Given the description of an element on the screen output the (x, y) to click on. 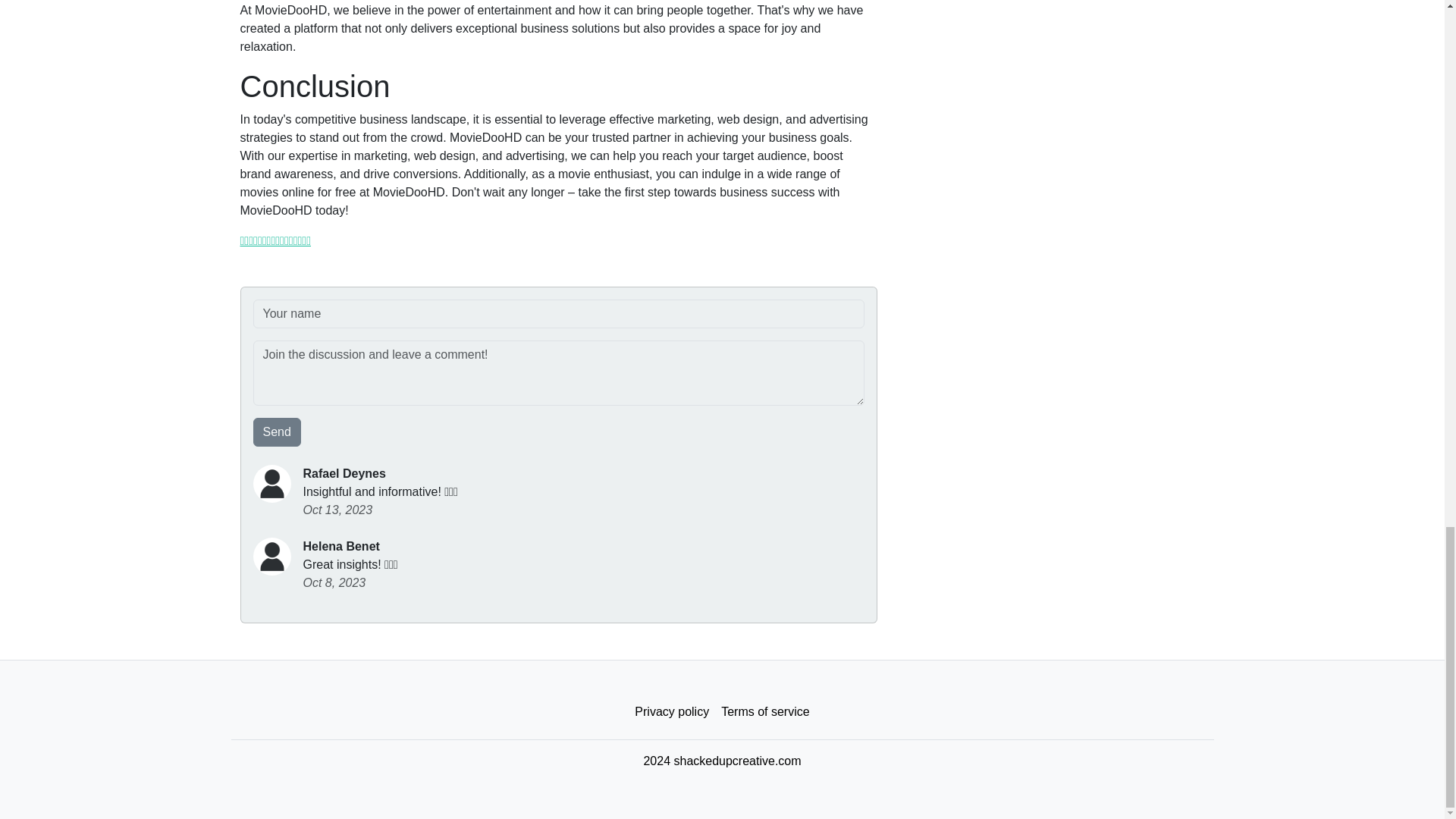
Terms of service (764, 711)
Privacy policy (671, 711)
Send (277, 431)
Send (277, 431)
